Given the description of an element on the screen output the (x, y) to click on. 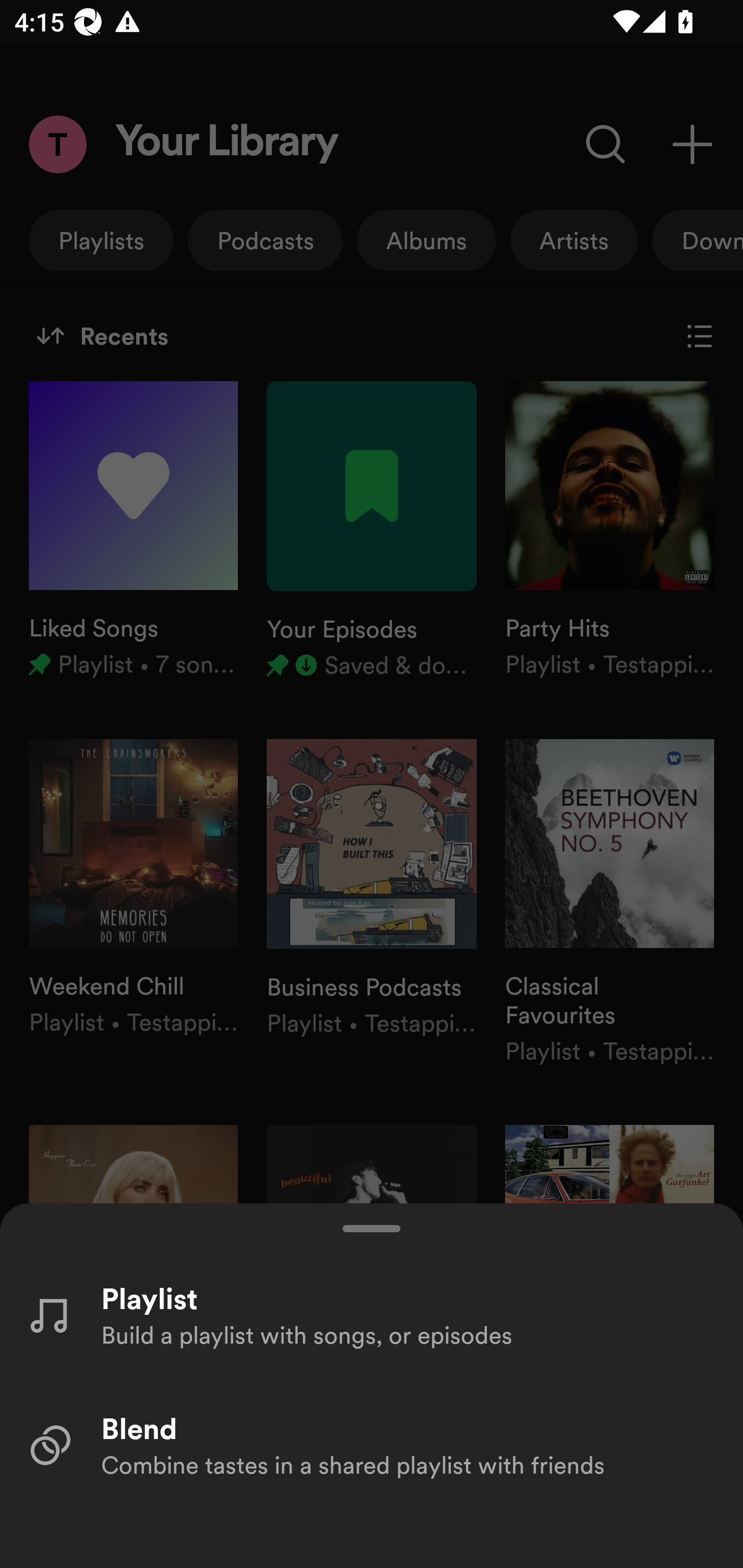
Playlist Build a playlist with songs, or episodes (371, 1314)
